Given the description of an element on the screen output the (x, y) to click on. 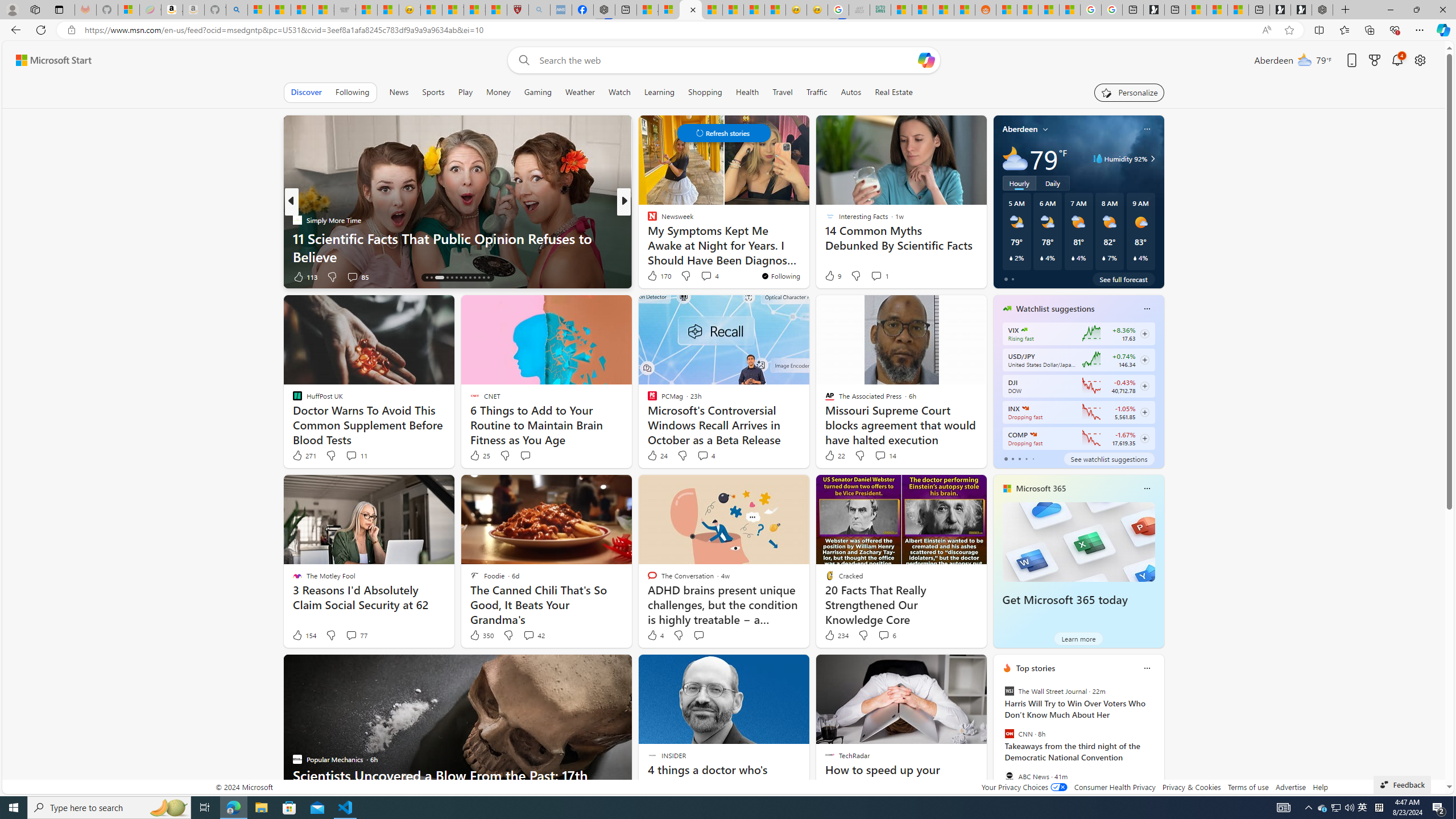
View comments 4 Comment (703, 455)
View comments 18 Comment (703, 276)
28 Like (652, 276)
View comments 6 Comment (883, 635)
Million Dollar Sense (647, 238)
234 Like (835, 634)
See watchlist suggestions (1108, 459)
tab-3 (1025, 458)
